Given the description of an element on the screen output the (x, y) to click on. 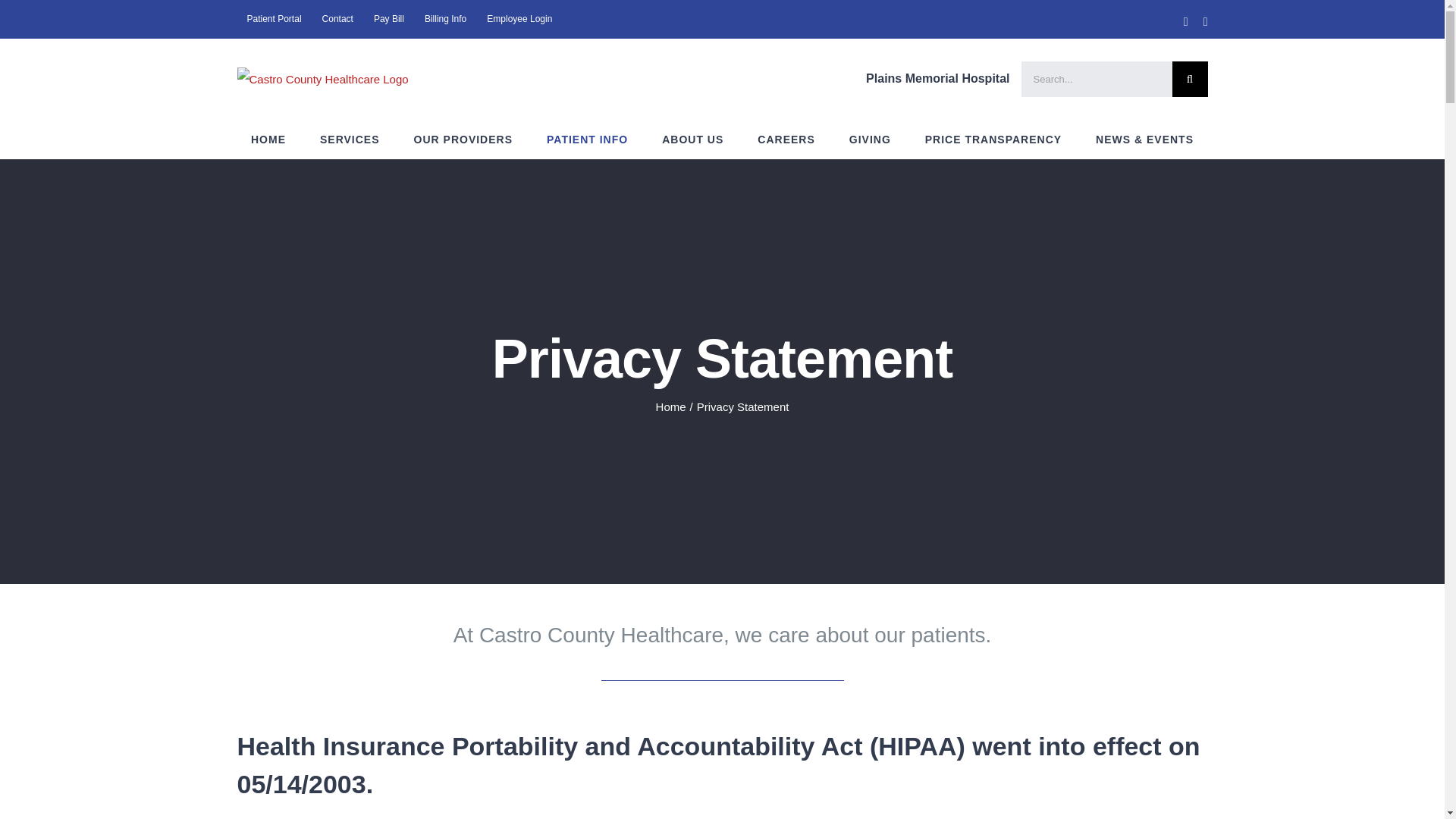
Employee Login (519, 18)
Billing Info (445, 18)
HOME (267, 139)
OUR PROVIDERS (462, 139)
Pay Bill (388, 18)
Contact (337, 18)
SERVICES (350, 139)
Patient Portal (273, 18)
